Given the description of an element on the screen output the (x, y) to click on. 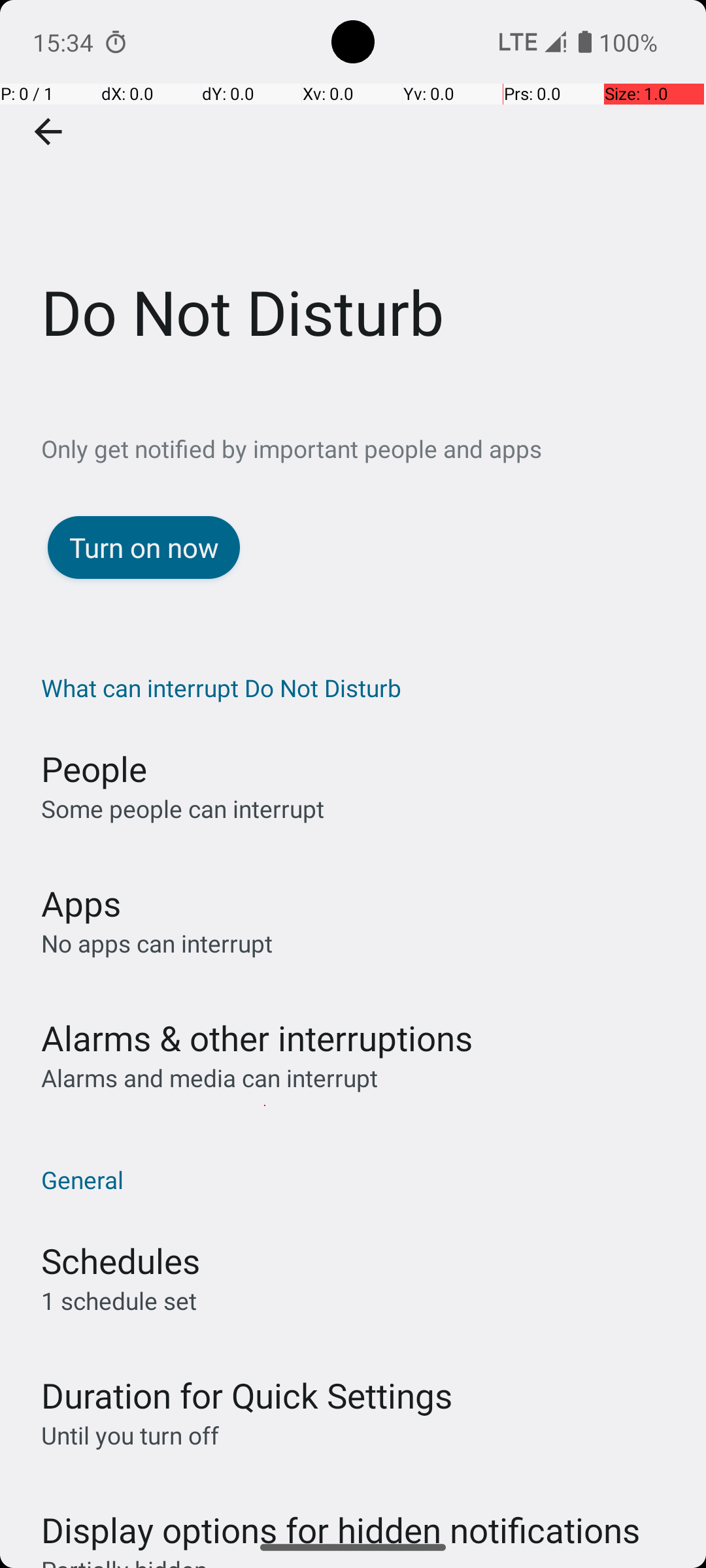
Only get notified by important people and apps Element type: android.widget.TextView (373, 448)
Turn on now Element type: android.widget.Button (143, 547)
What can interrupt Do Not Disturb Element type: android.widget.TextView (359, 687)
People Element type: android.widget.TextView (94, 768)
Some people can interrupt Element type: android.widget.TextView (182, 808)
No apps can interrupt Element type: android.widget.TextView (156, 942)
Alarms & other interruptions Element type: android.widget.TextView (256, 1037)
Alarms and media can interrupt Element type: android.widget.TextView (209, 1077)
Schedules Element type: android.widget.TextView (120, 1260)
1 schedule set Element type: android.widget.TextView (118, 1300)
Duration for Quick Settings Element type: android.widget.TextView (246, 1395)
Until you turn off Element type: android.widget.TextView (129, 1434)
Display options for hidden notifications Element type: android.widget.TextView (340, 1516)
